Given the description of an element on the screen output the (x, y) to click on. 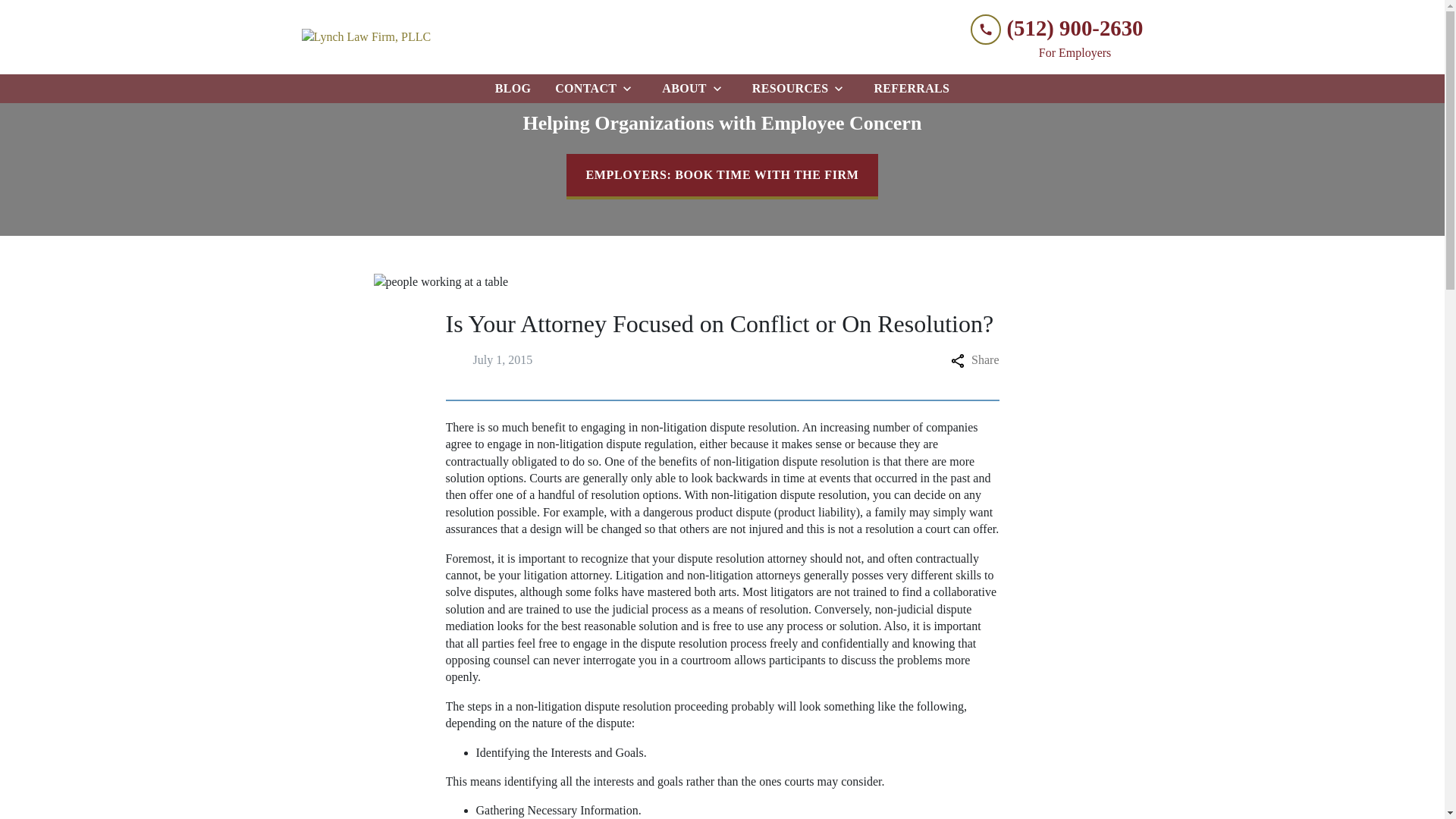
EMPLOYERS: BOOK TIME WITH THE FIRM (721, 176)
BLOG (513, 88)
RESOURCES (786, 88)
CONTACT (581, 88)
ABOUT (681, 88)
REFERRALS (911, 88)
Share (974, 360)
